Given the description of an element on the screen output the (x, y) to click on. 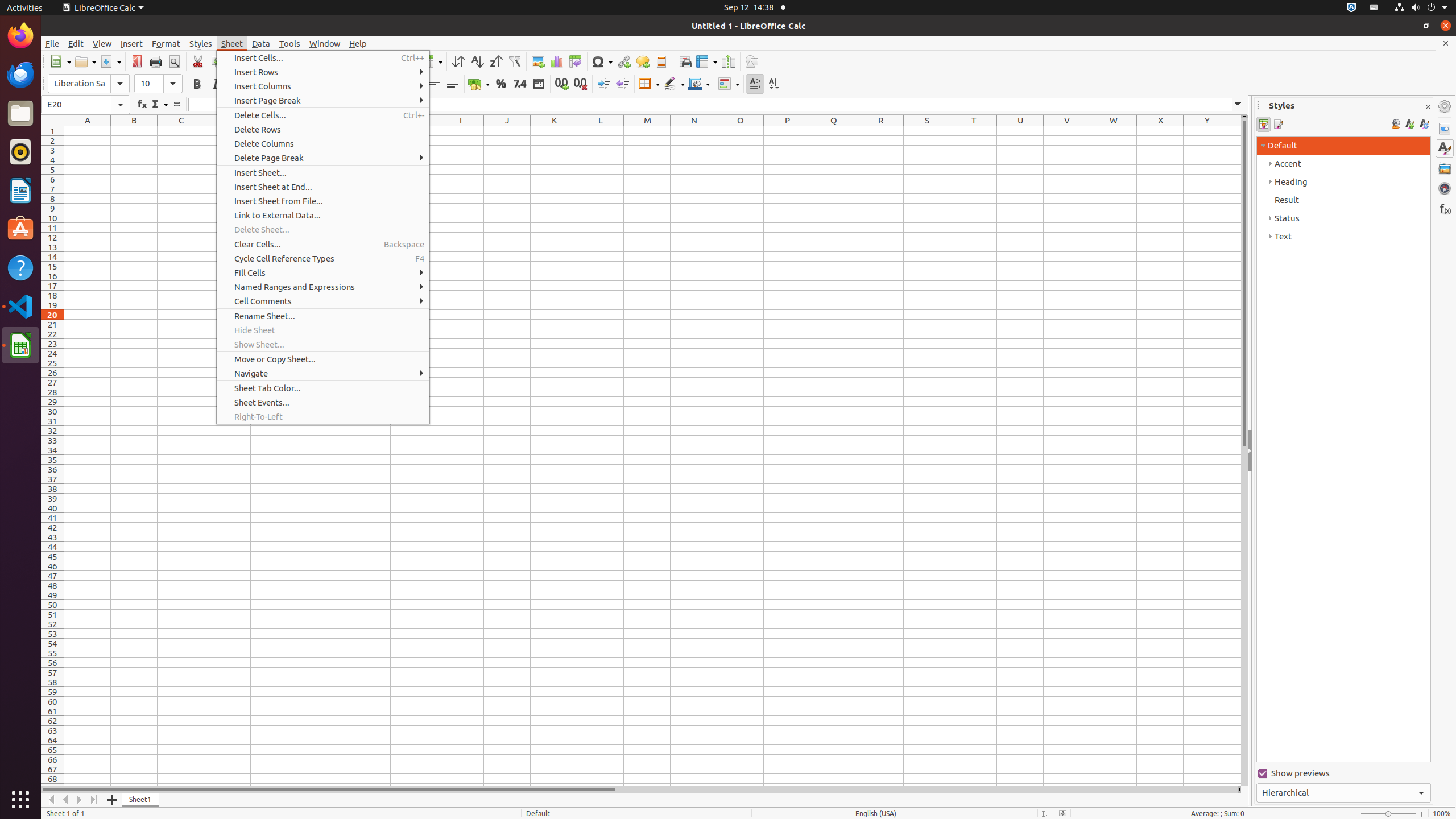
Ubuntu Software Element type: push-button (20, 229)
Currency Element type: push-button (478, 83)
P1 Element type: table-cell (786, 130)
View Element type: menu (102, 43)
Fill Format Mode Element type: push-button (1395, 123)
